Given the description of an element on the screen output the (x, y) to click on. 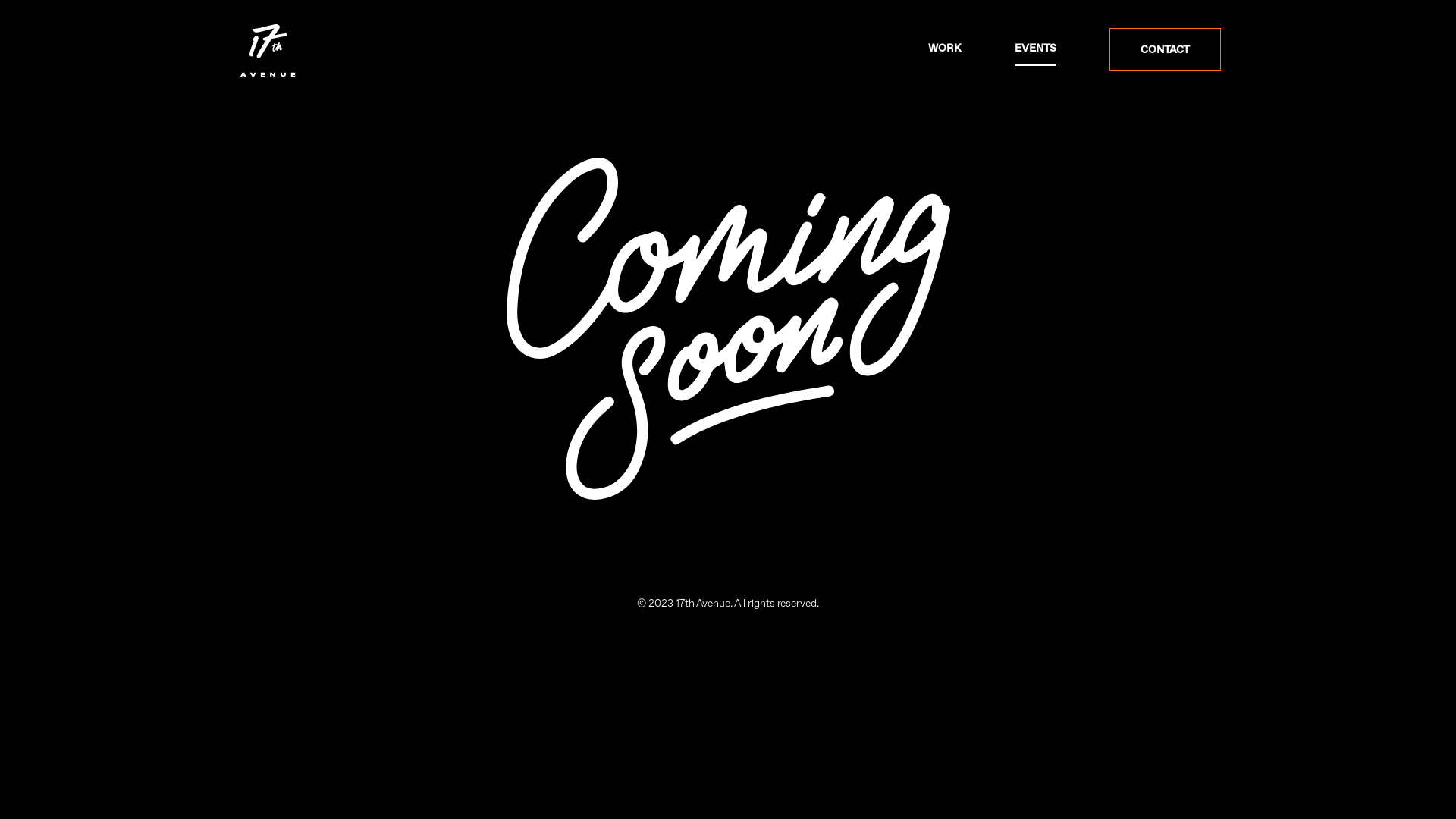
CONTACT Element type: text (1164, 49)
WORK Element type: text (944, 47)
EVENTS Element type: text (1035, 48)
